Given the description of an element on the screen output the (x, y) to click on. 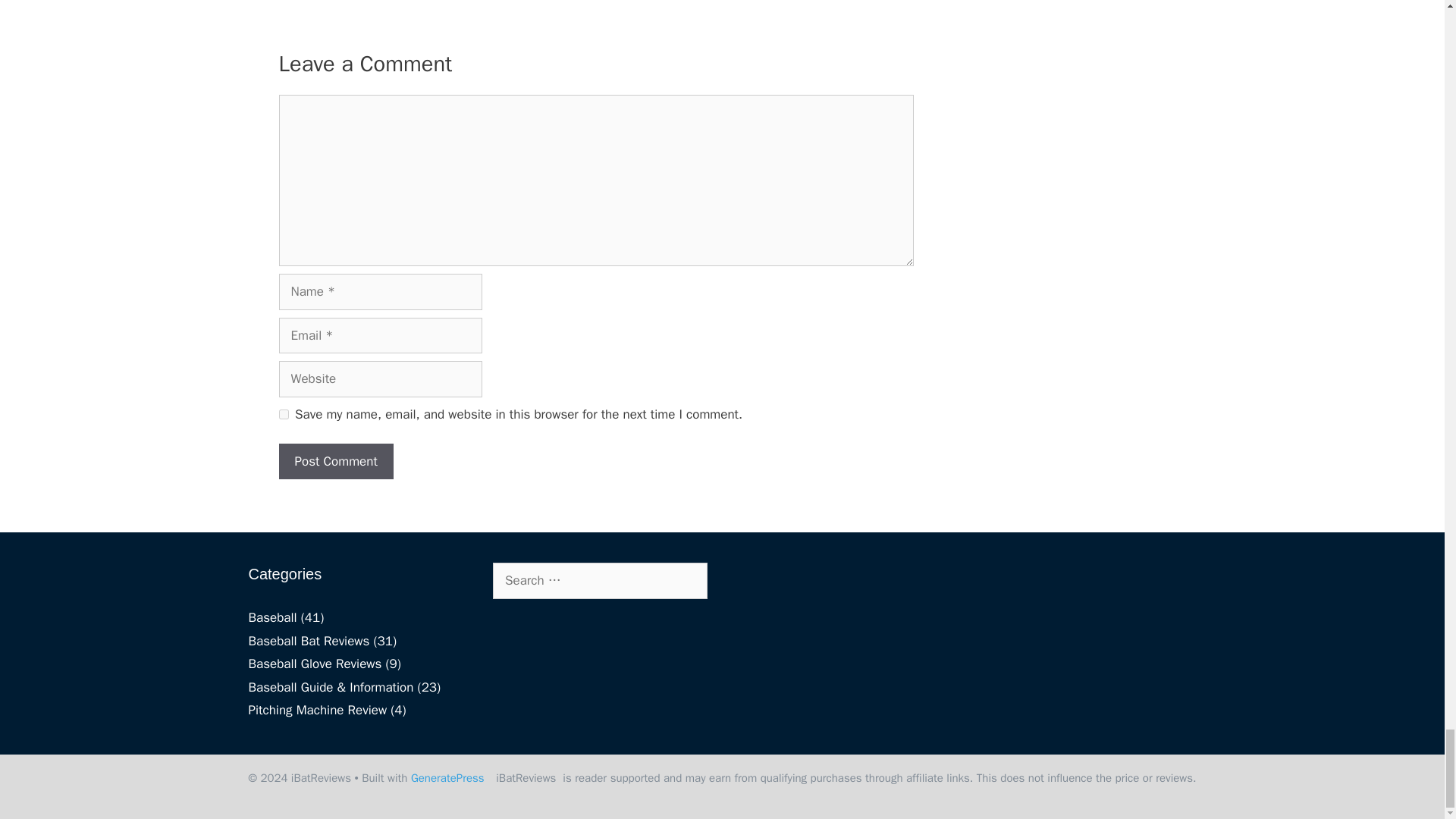
Search for: (600, 580)
Post Comment (336, 461)
yes (283, 414)
